Given the description of an element on the screen output the (x, y) to click on. 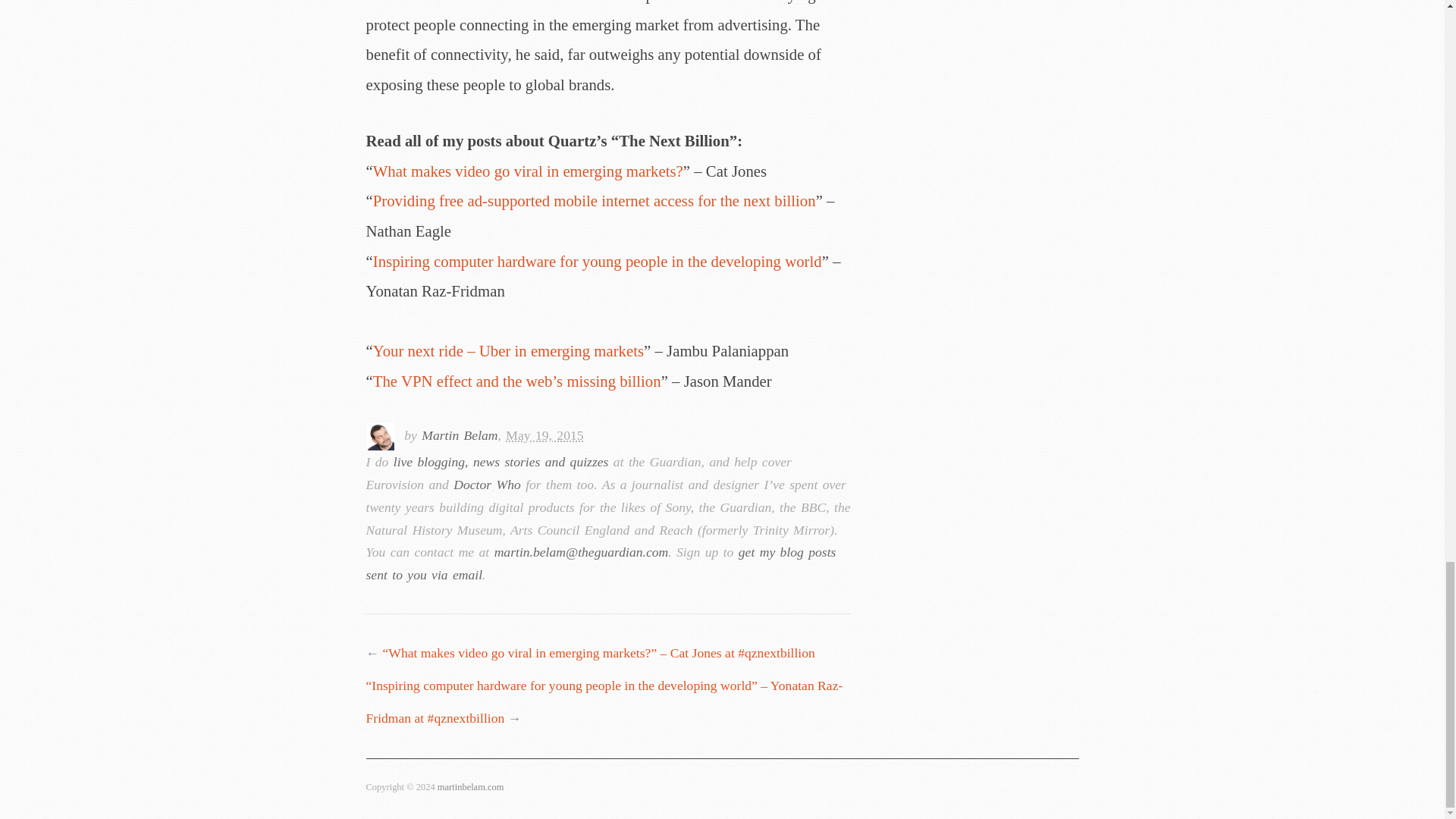
live blogging, news stories and quizzes (500, 461)
Doctor Who (486, 484)
Tuesday, May 19th, 2015, 10:21 am (544, 435)
Martin Belam (459, 435)
What makes video go viral in emerging markets? (527, 170)
get my blog posts sent to you via email (600, 563)
martinbelam.com (470, 787)
martinbelam.com (470, 787)
